Given the description of an element on the screen output the (x, y) to click on. 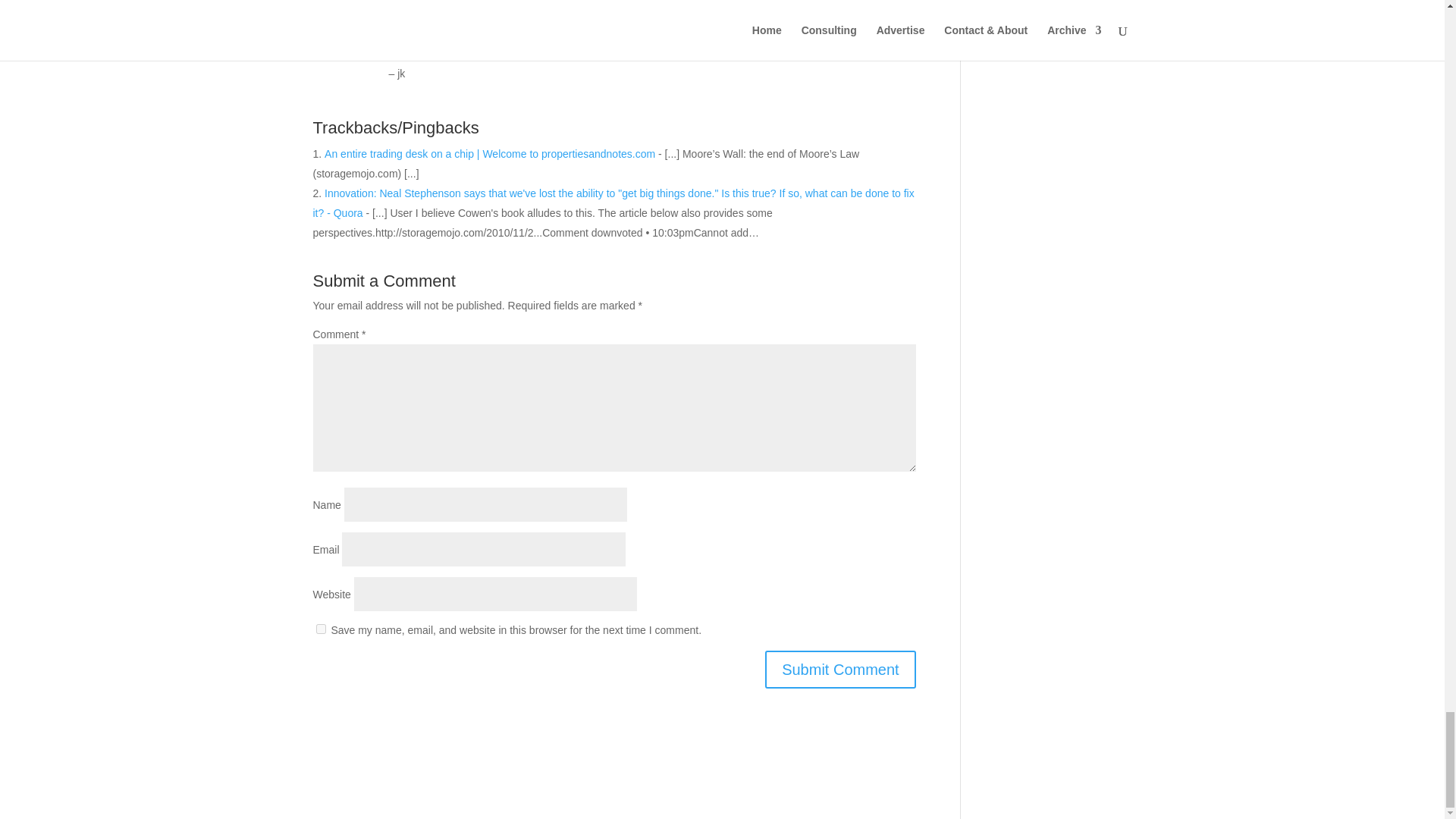
yes (319, 628)
Submit Comment (840, 669)
Submit Comment (840, 669)
